Given the description of an element on the screen output the (x, y) to click on. 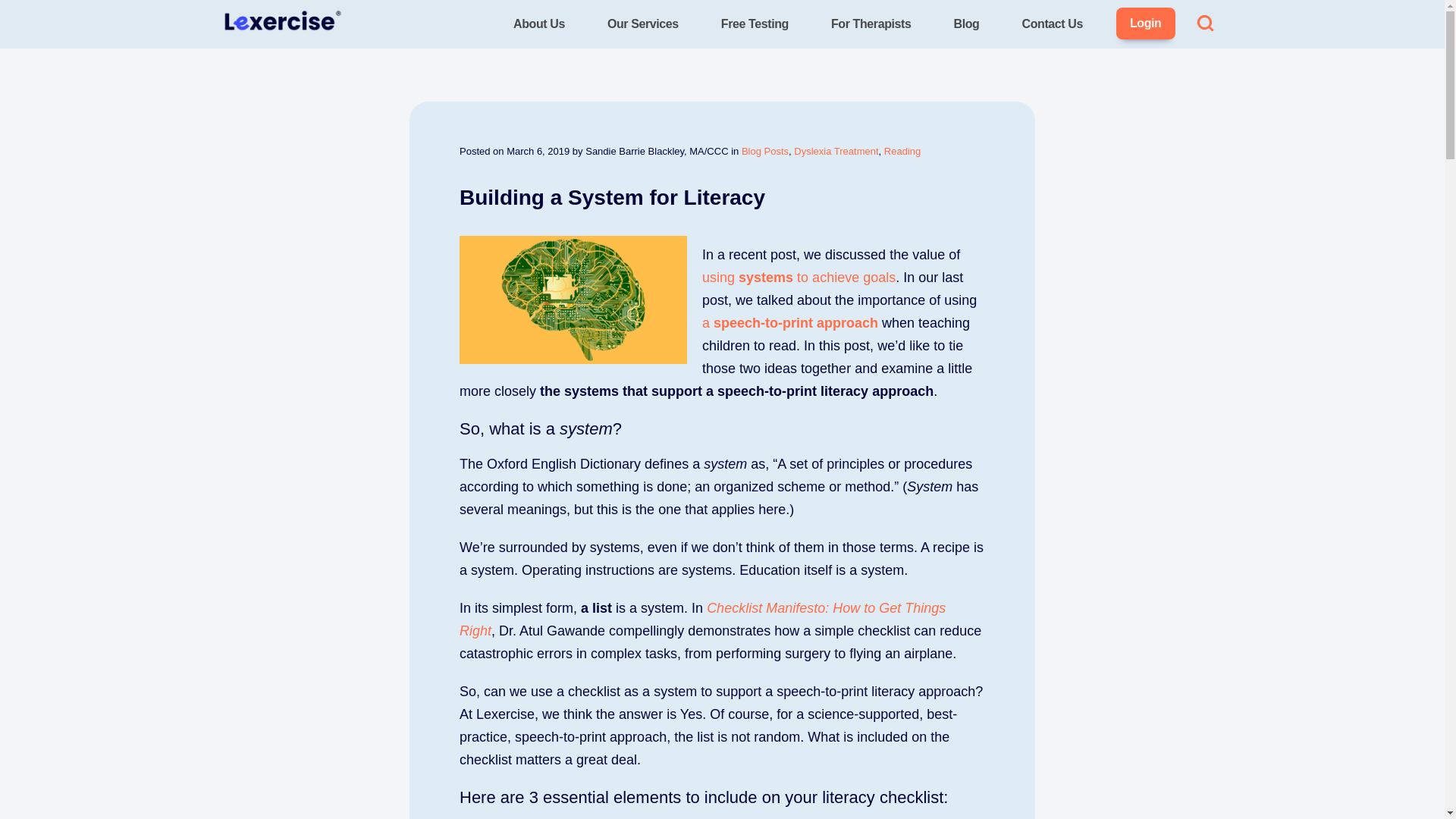
Lexercise (250, 51)
Blog (967, 24)
Our Services (643, 24)
Free Testing (754, 24)
About Us (539, 24)
Contact Us (1052, 24)
For Therapists (871, 24)
